Given the description of an element on the screen output the (x, y) to click on. 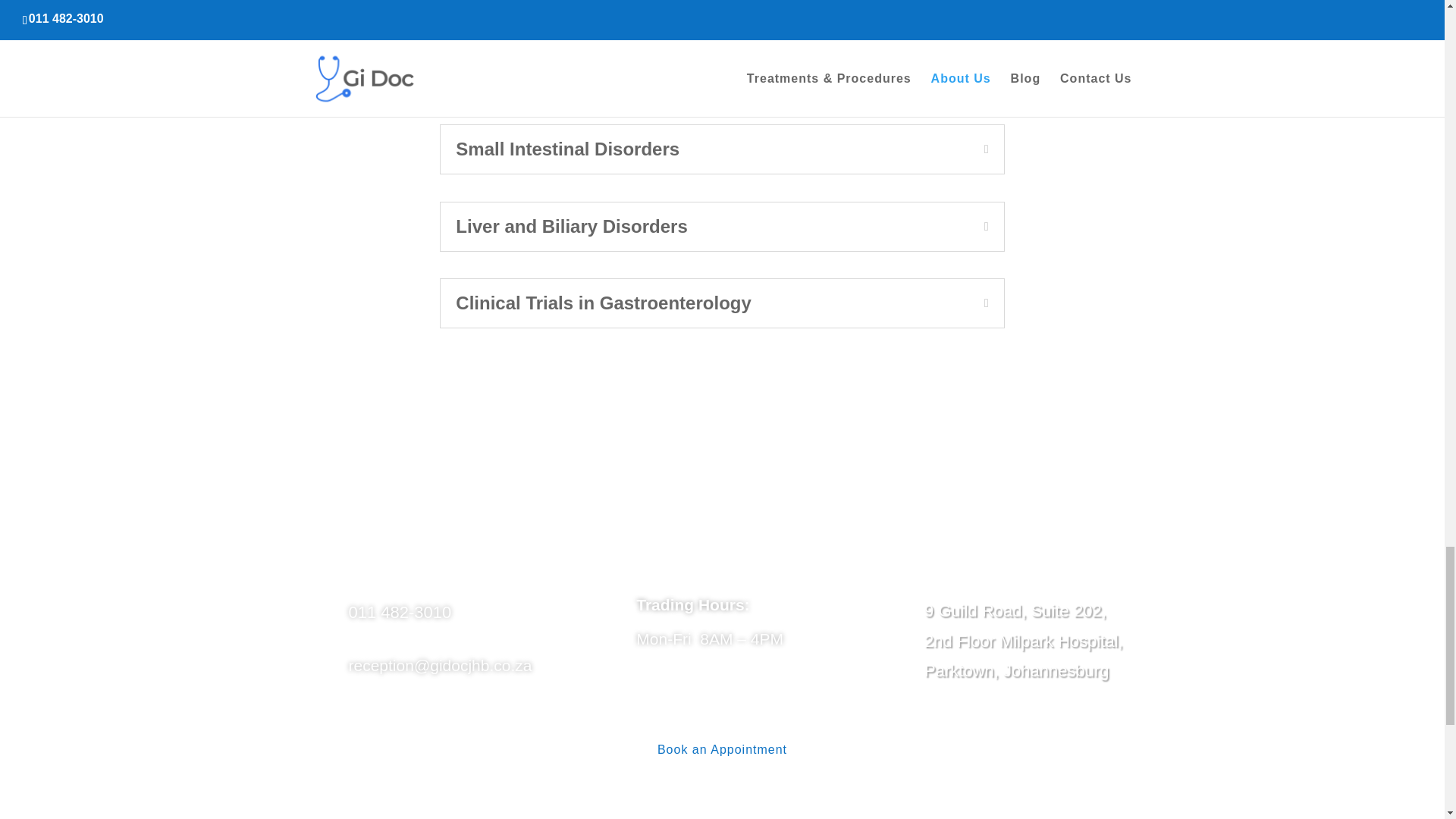
Book an Appointment (722, 749)
